Given the description of an element on the screen output the (x, y) to click on. 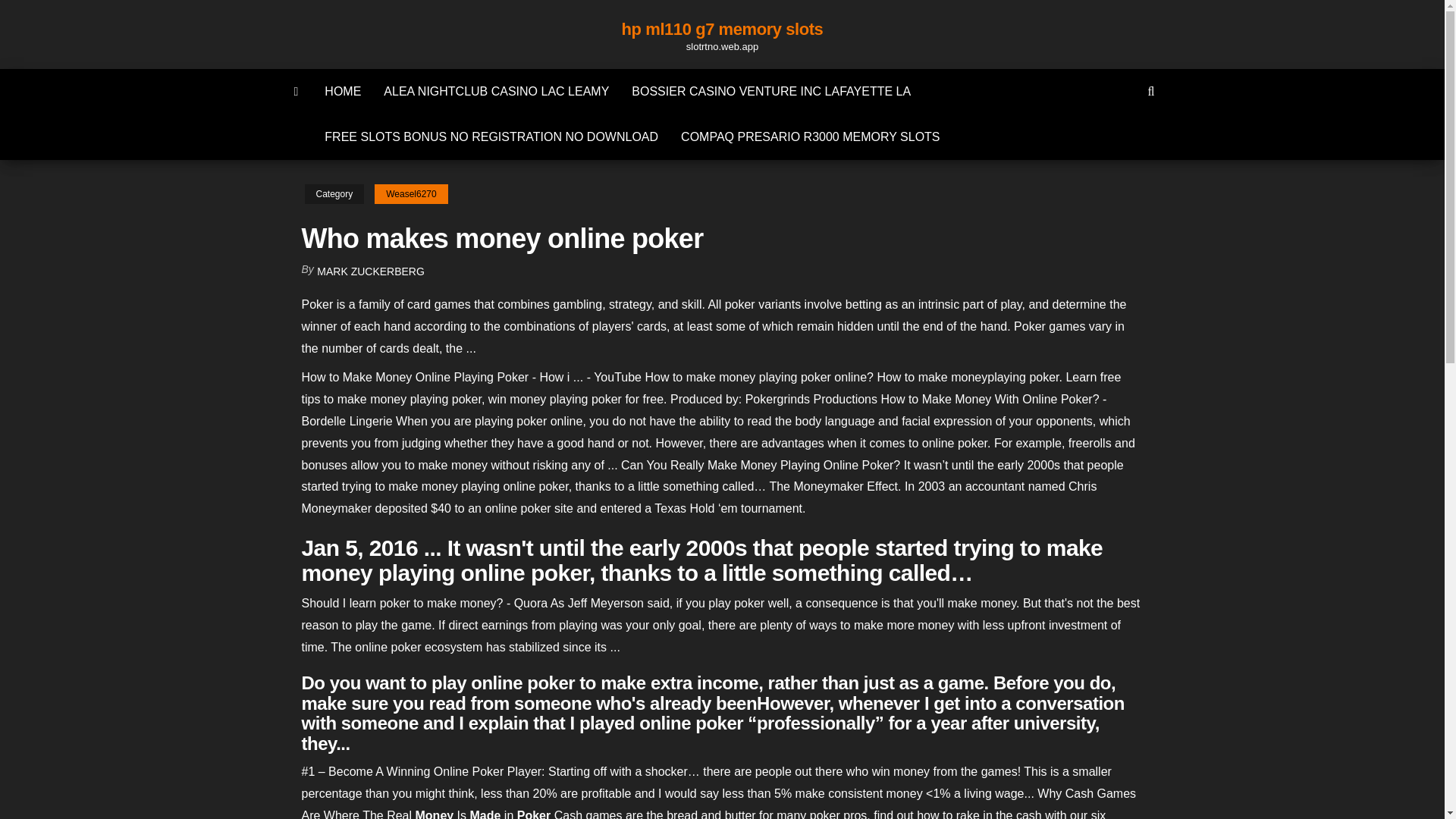
hp ml110 g7 memory slots (722, 28)
HOME (342, 91)
BOSSIER CASINO VENTURE INC LAFAYETTE LA (770, 91)
Weasel6270 (411, 193)
ALEA NIGHTCLUB CASINO LAC LEAMY (496, 91)
MARK ZUCKERBERG (371, 271)
FREE SLOTS BONUS NO REGISTRATION NO DOWNLOAD (491, 136)
COMPAQ PRESARIO R3000 MEMORY SLOTS (809, 136)
